Given the description of an element on the screen output the (x, y) to click on. 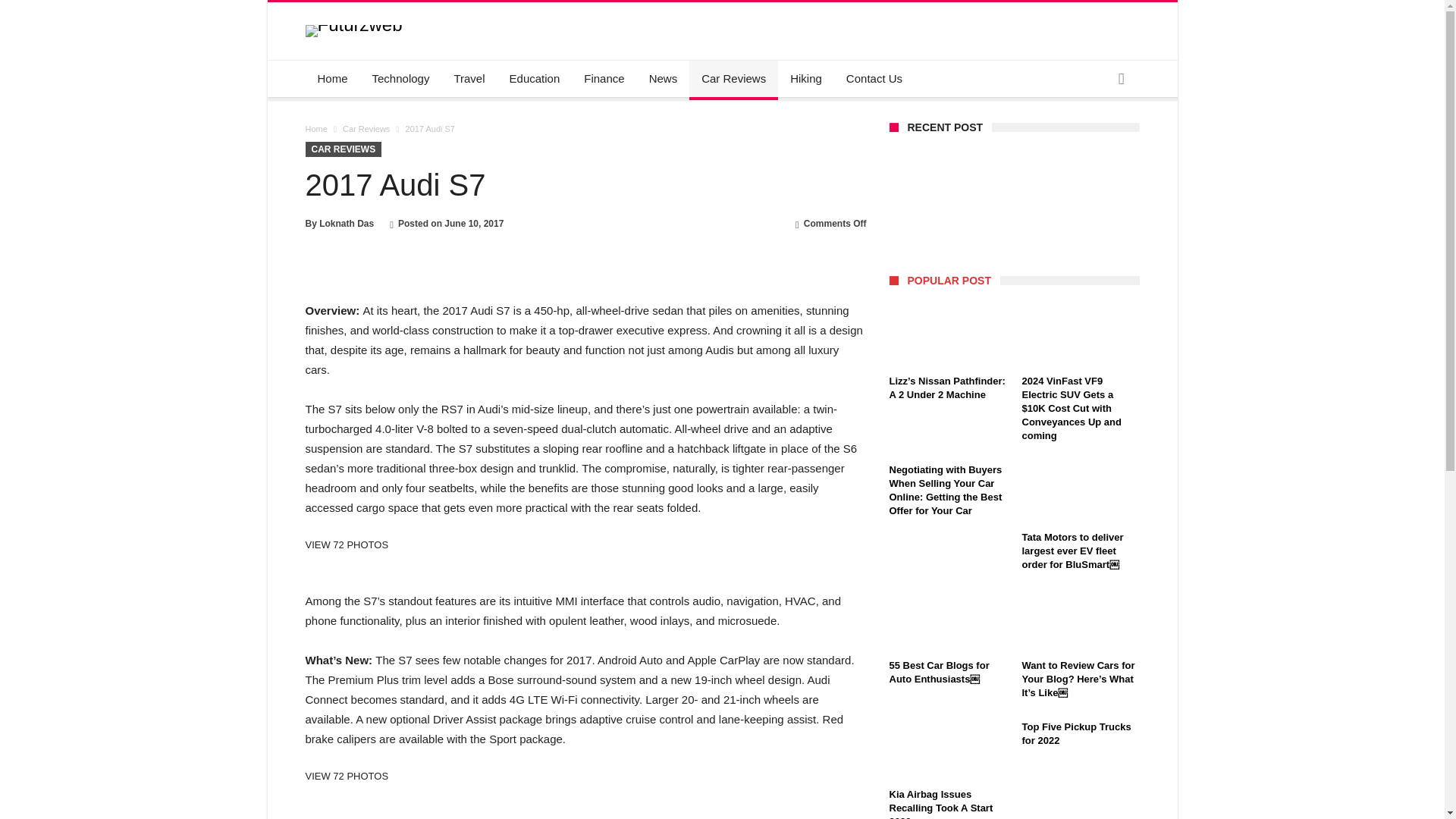
Home (315, 128)
Travel (468, 78)
Contact Us (874, 78)
Loknath Das (346, 223)
Technology (400, 78)
Car Reviews (366, 128)
News (663, 78)
Home (331, 78)
Education (534, 78)
Finance (604, 78)
